Given the description of an element on the screen output the (x, y) to click on. 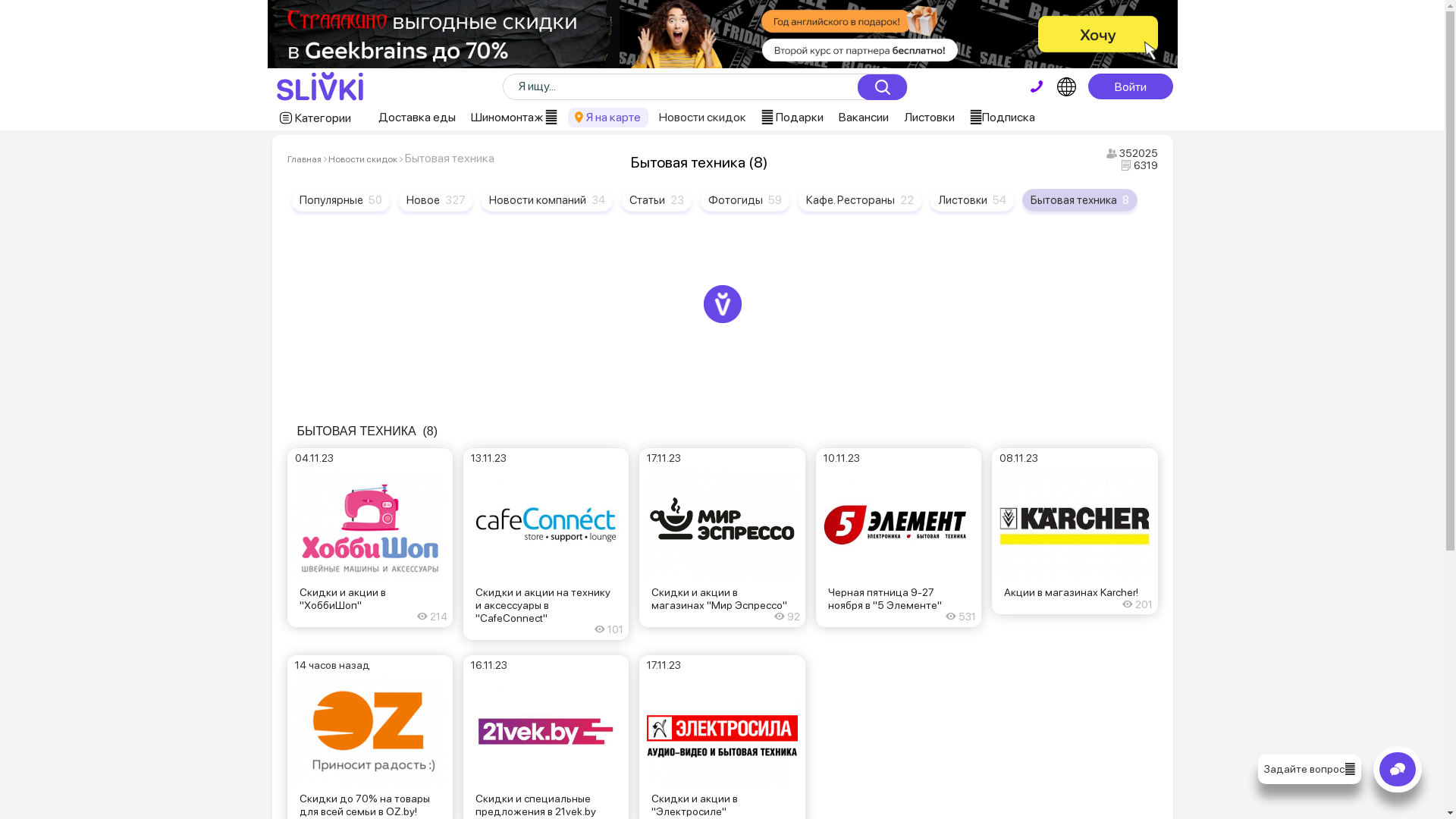
10.11.23 Element type: text (898, 515)
08.11.23 Element type: text (1074, 515)
04.11.23 Element type: text (369, 515)
16.11.23 Element type: text (545, 722)
17.11.23 Element type: text (721, 515)
  Element type: text (1036, 86)
13.11.23 Element type: text (545, 515)
17.11.23 Element type: text (721, 722)
